Given the description of an element on the screen output the (x, y) to click on. 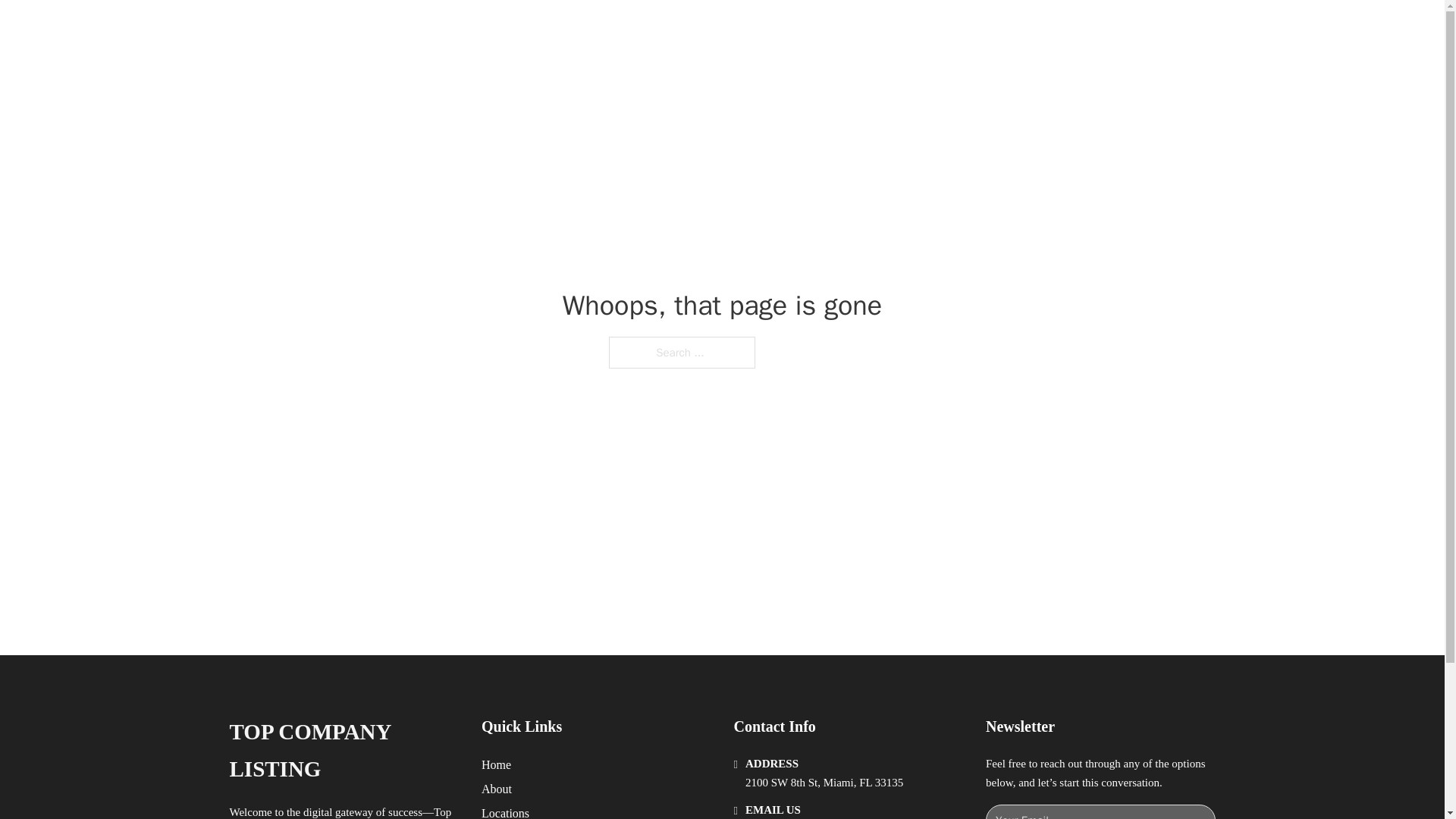
LOCATIONS (990, 29)
TOP COMPANY LISTING (343, 750)
About (496, 788)
TOP COMPANY LISTING (424, 28)
Locations (505, 811)
HOME (919, 29)
Home (496, 764)
